Given the description of an element on the screen output the (x, y) to click on. 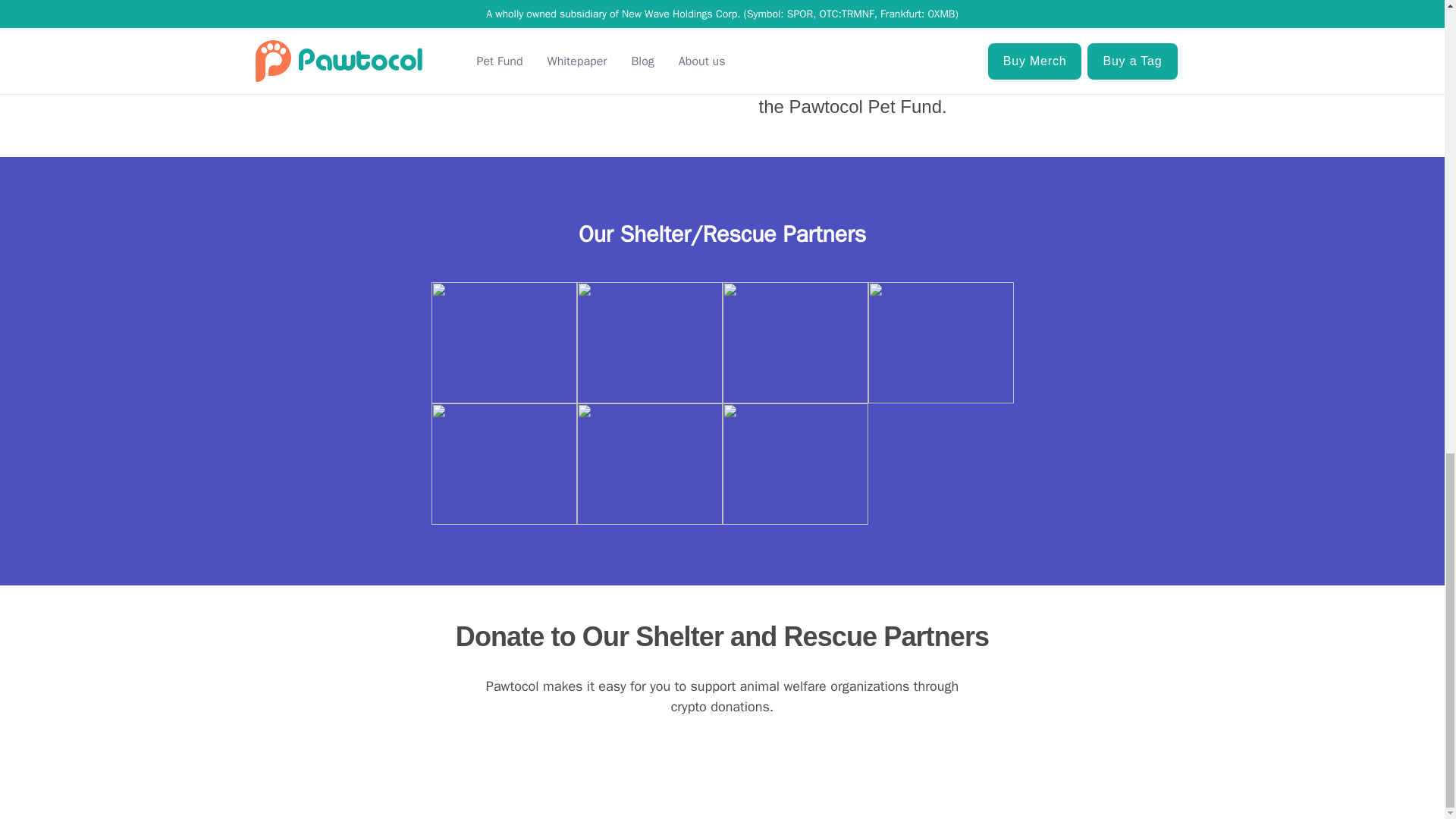
Husky Haven of Florida (503, 463)
Houndhaven (794, 463)
A Forever Home Animal Rescue (649, 463)
Donate with Coinbase (722, 755)
Fearless Kitty Rescue (794, 342)
